Given the description of an element on the screen output the (x, y) to click on. 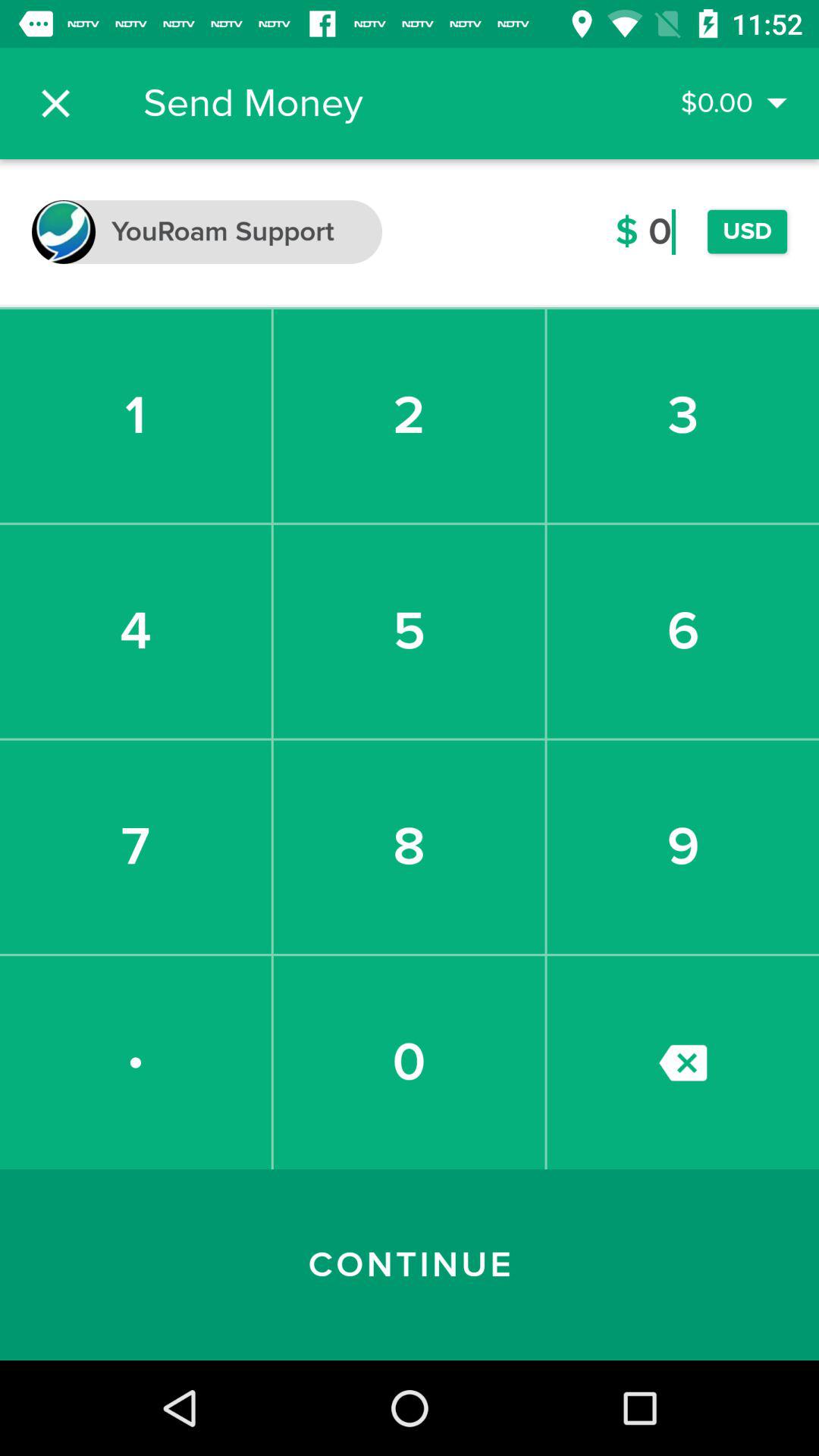
turn off 8 (408, 846)
